Given the description of an element on the screen output the (x, y) to click on. 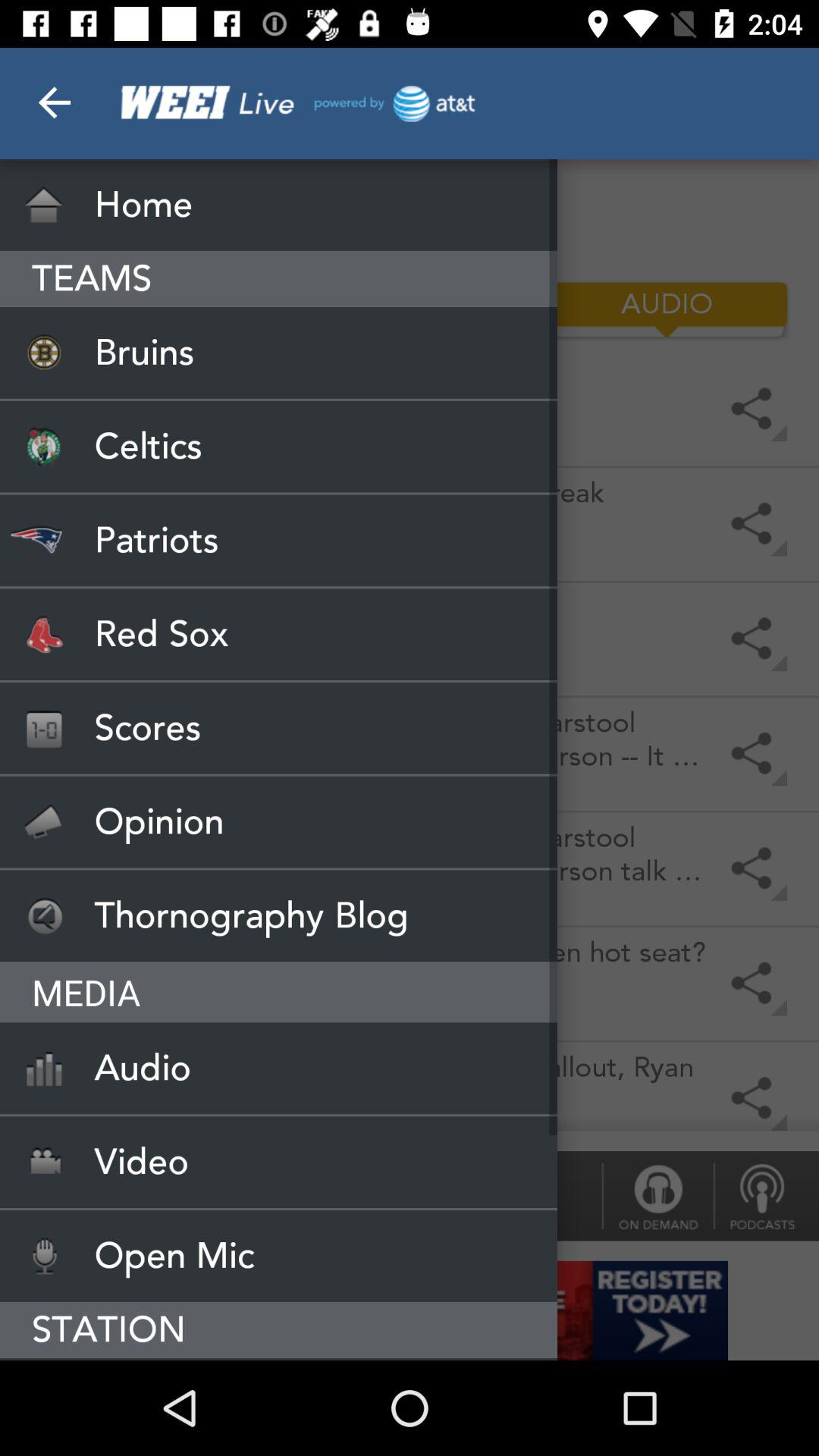
select item above the jan 15 2017 item (278, 728)
